Given the description of an element on the screen output the (x, y) to click on. 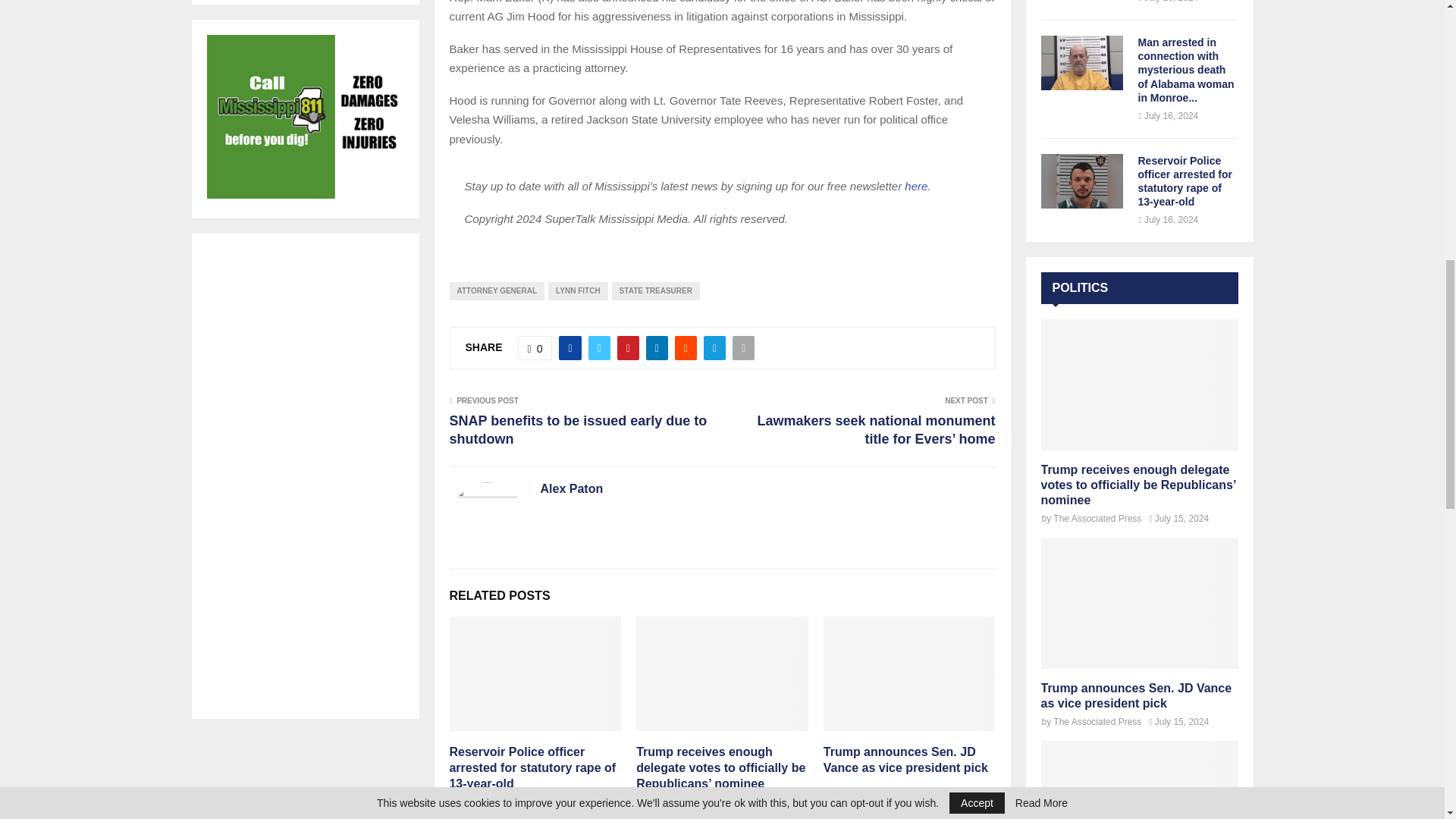
Like (535, 347)
Posts by Alex Paton (571, 489)
